Given the description of an element on the screen output the (x, y) to click on. 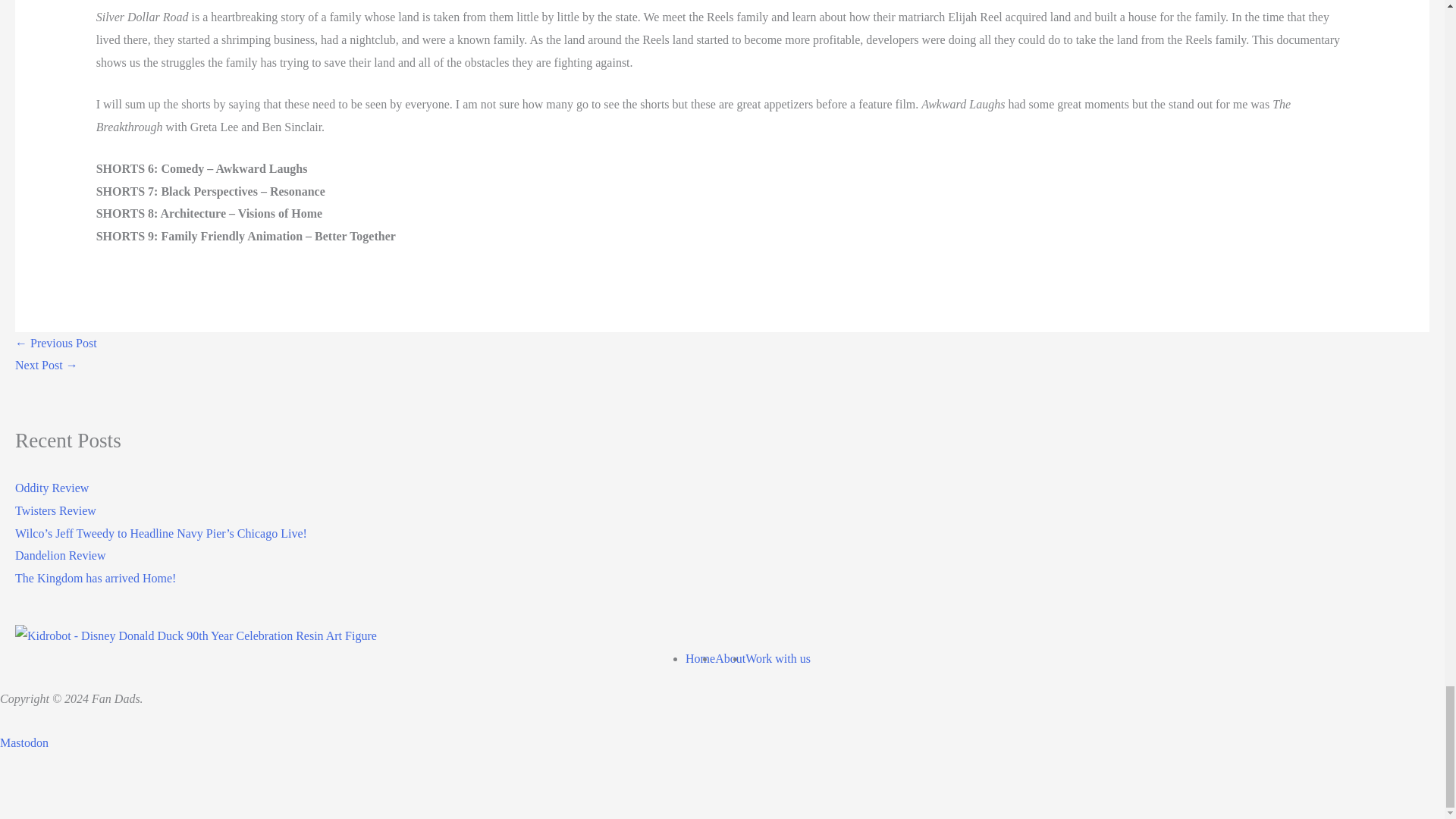
Point Break 4K Release (46, 364)
Oddity Review (51, 487)
Twisters Review (55, 510)
Trolls Band Together Review (55, 342)
The Kingdom has arrived Home! (95, 577)
Dandelion Review (60, 554)
